Given the description of an element on the screen output the (x, y) to click on. 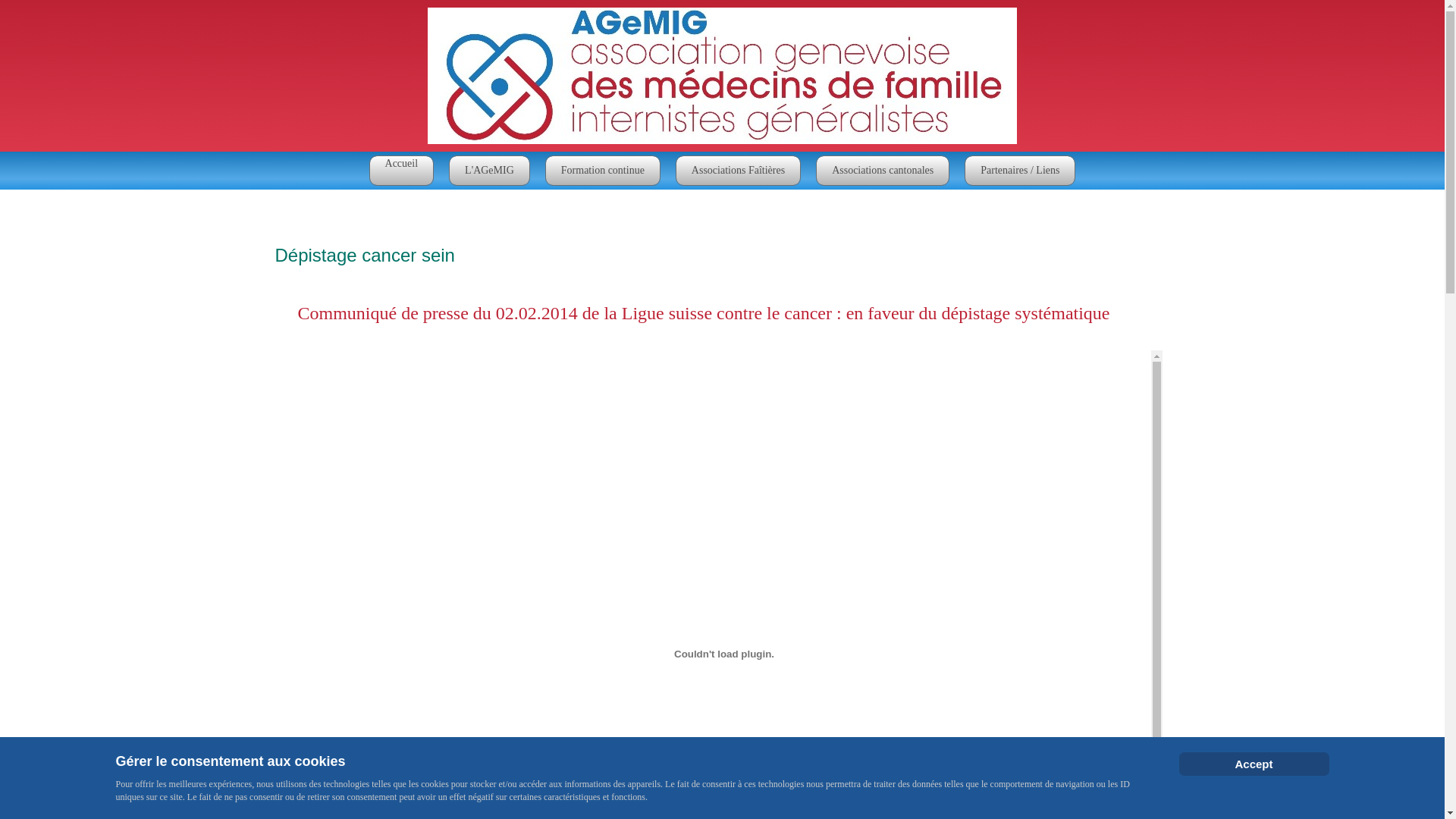
Accept Element type: text (1253, 763)
Formation continue Element type: text (602, 170)
Accueil Element type: text (401, 170)
